Given the description of an element on the screen output the (x, y) to click on. 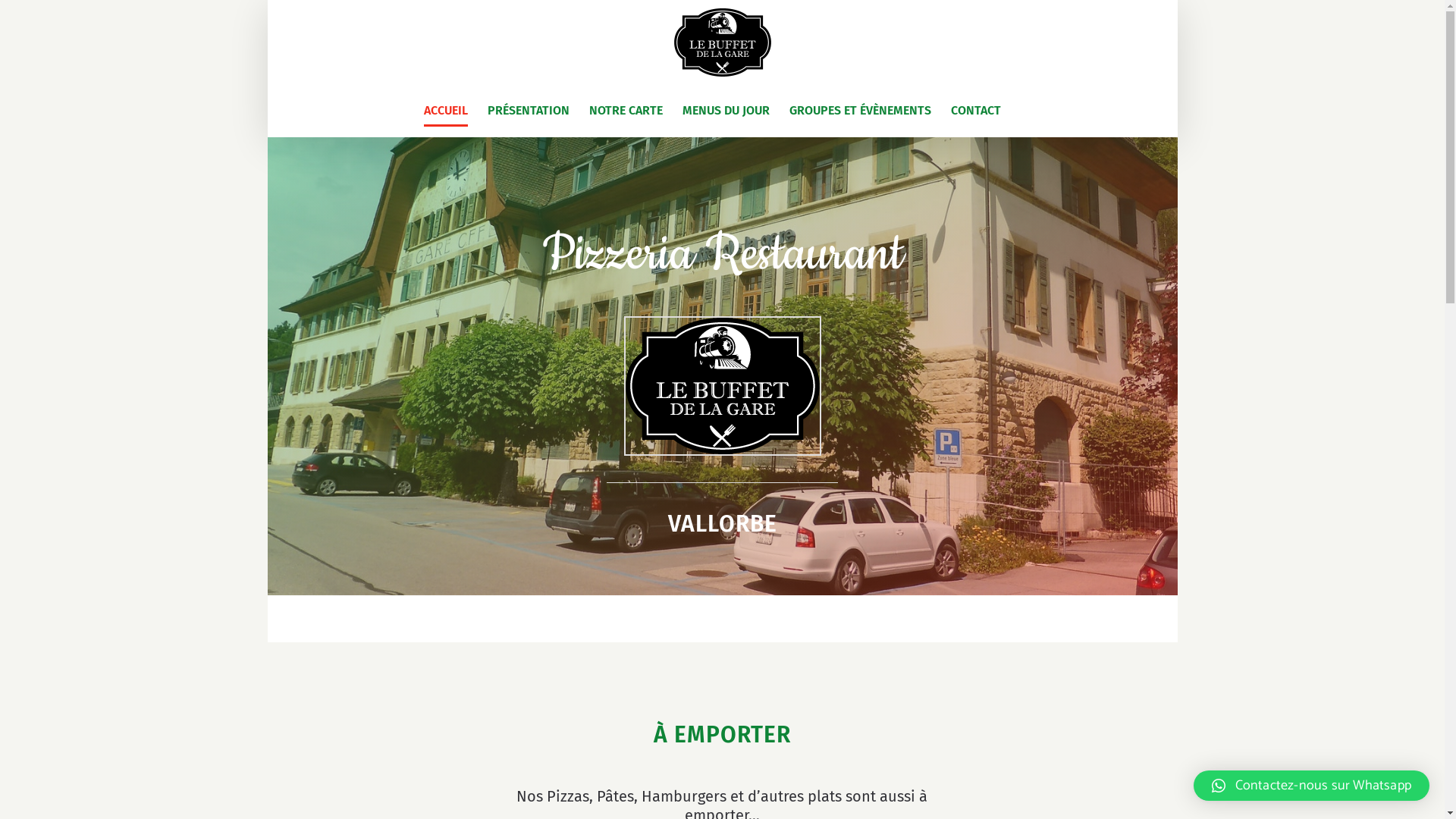
Hamburgers Element type: text (683, 796)
Logo Element type: hover (721, 385)
ACCUEIL Element type: text (445, 110)
Pizzas Element type: text (567, 796)
MENUS DU JOUR Element type: text (725, 110)
Contactez-nous sur Whatsapp Element type: text (1311, 785)
NOTRE CARTE Element type: text (625, 110)
CONTACT Element type: text (975, 110)
